Given the description of an element on the screen output the (x, y) to click on. 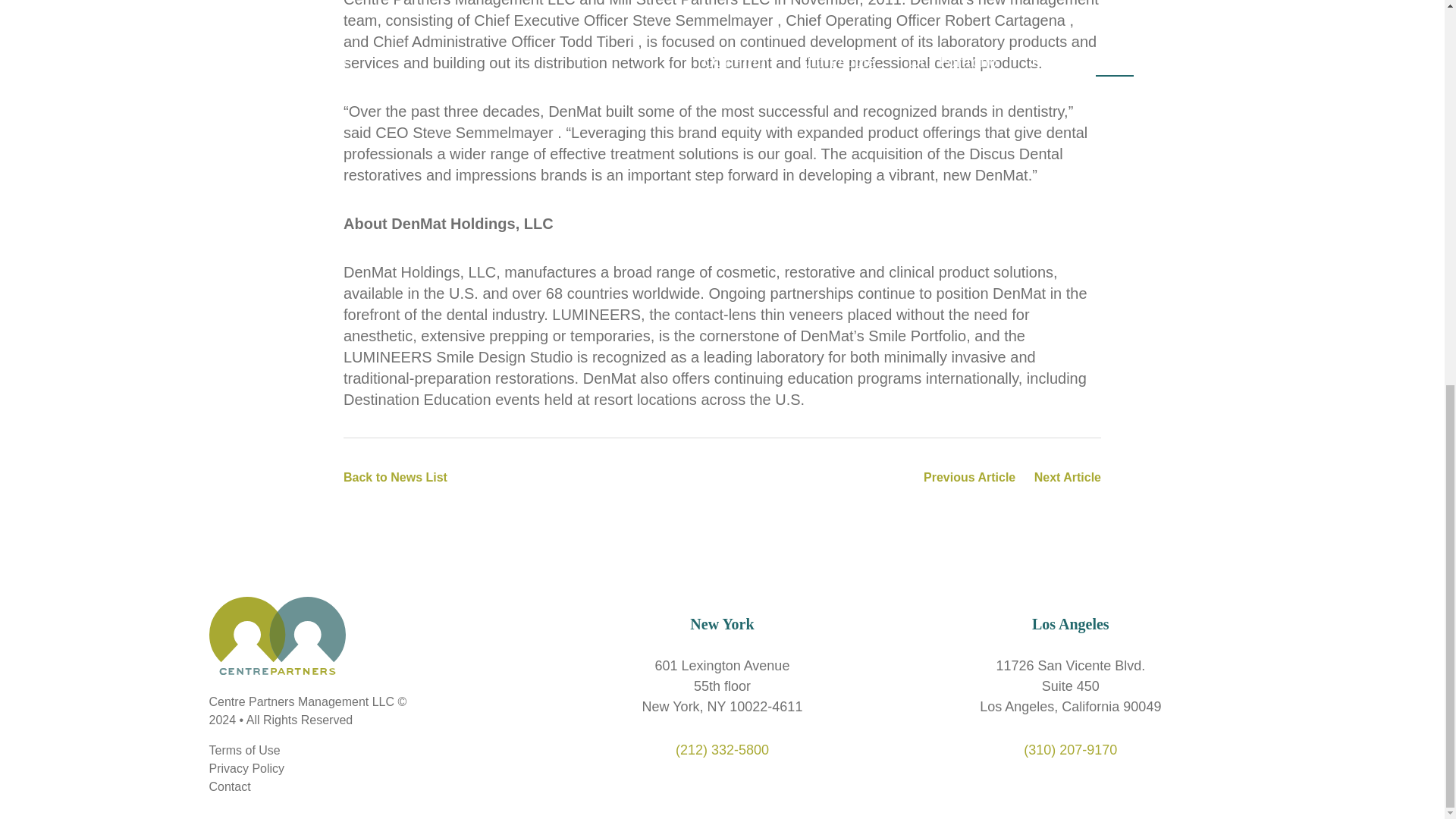
Next Article (1066, 477)
Back to News List (394, 477)
Privacy Policy (247, 768)
Previous Article (968, 477)
Terms of Use (245, 749)
Contact (229, 786)
